Given the description of an element on the screen output the (x, y) to click on. 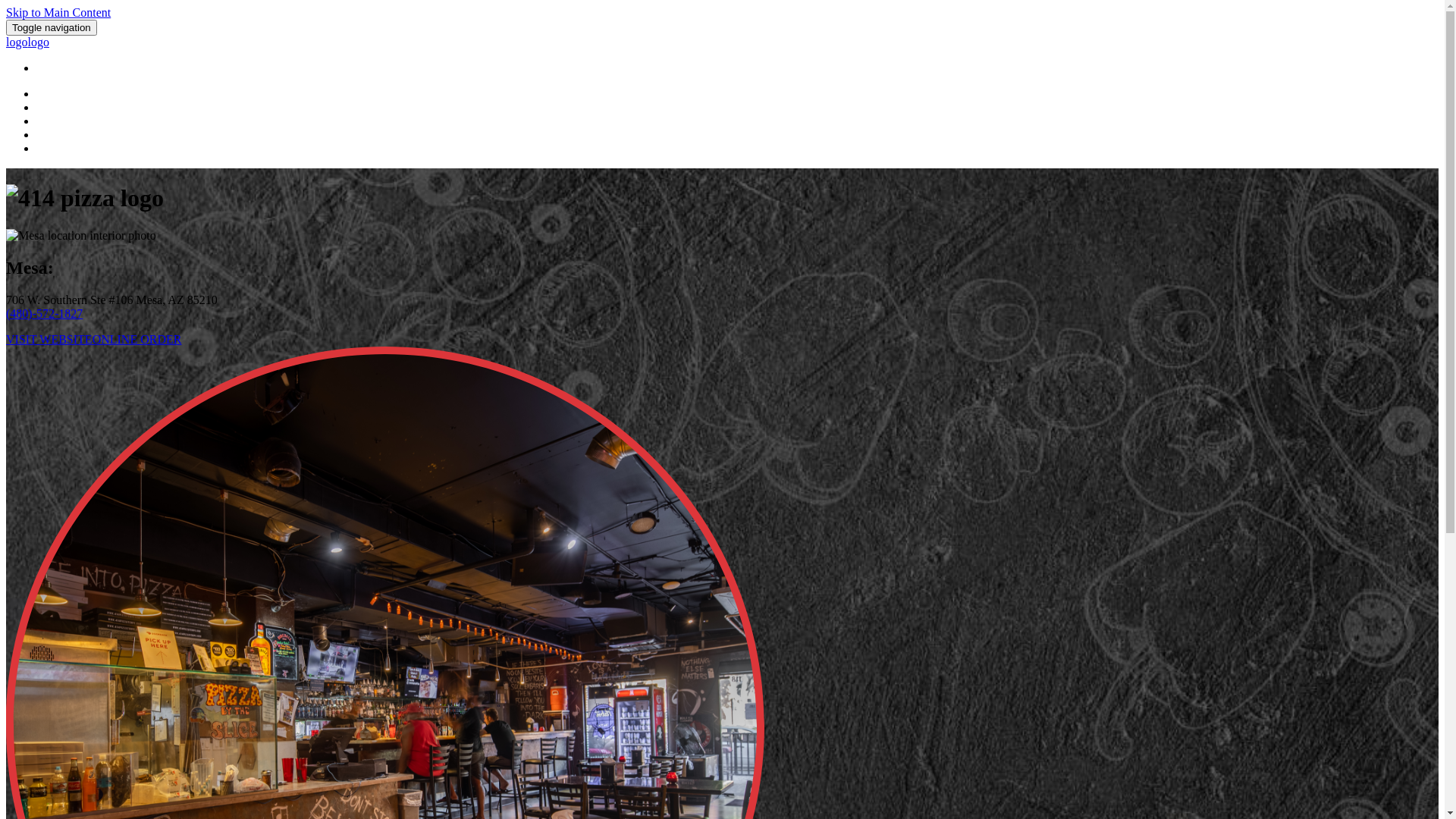
(480)-572-1827 Element type: text (44, 313)
MENU Element type: text (54, 93)
DRINKS Element type: text (59, 106)
ORDER Element type: text (57, 147)
logo Element type: text (16, 41)
ONLINE ORDER Element type: text (137, 338)
EVENTS Element type: text (59, 134)
Skip to Main Content Element type: text (58, 12)
logo Element type: text (37, 41)
Toggle navigation Element type: text (51, 27)
VISIT WEBSITE Element type: text (49, 338)
SPECIALS Element type: text (64, 120)
